Given the description of an element on the screen output the (x, y) to click on. 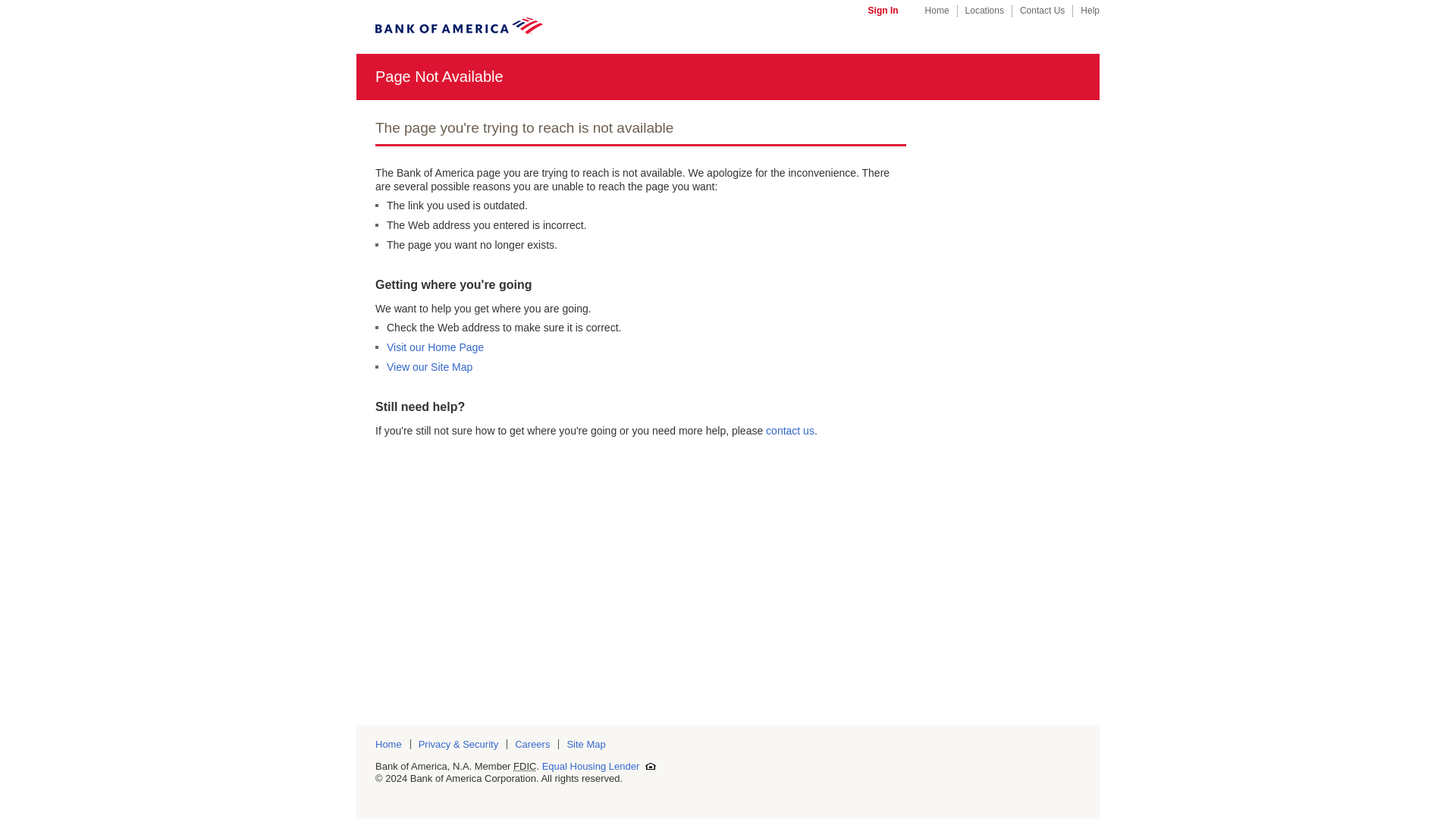
Federal Deposit Insurance Corporation (524, 766)
Home (936, 9)
Careers (537, 744)
contact us (789, 430)
Site Map (589, 744)
Visit our Home Page (435, 346)
Contact Us (1042, 9)
contact us (789, 430)
Equal Housing Lender information. Link opens in new window. (598, 766)
Site Map (589, 744)
View our Site Map (429, 367)
Home (392, 744)
Sign In (882, 9)
Home (392, 744)
Equal Housing Lender (598, 766)
